Given the description of an element on the screen output the (x, y) to click on. 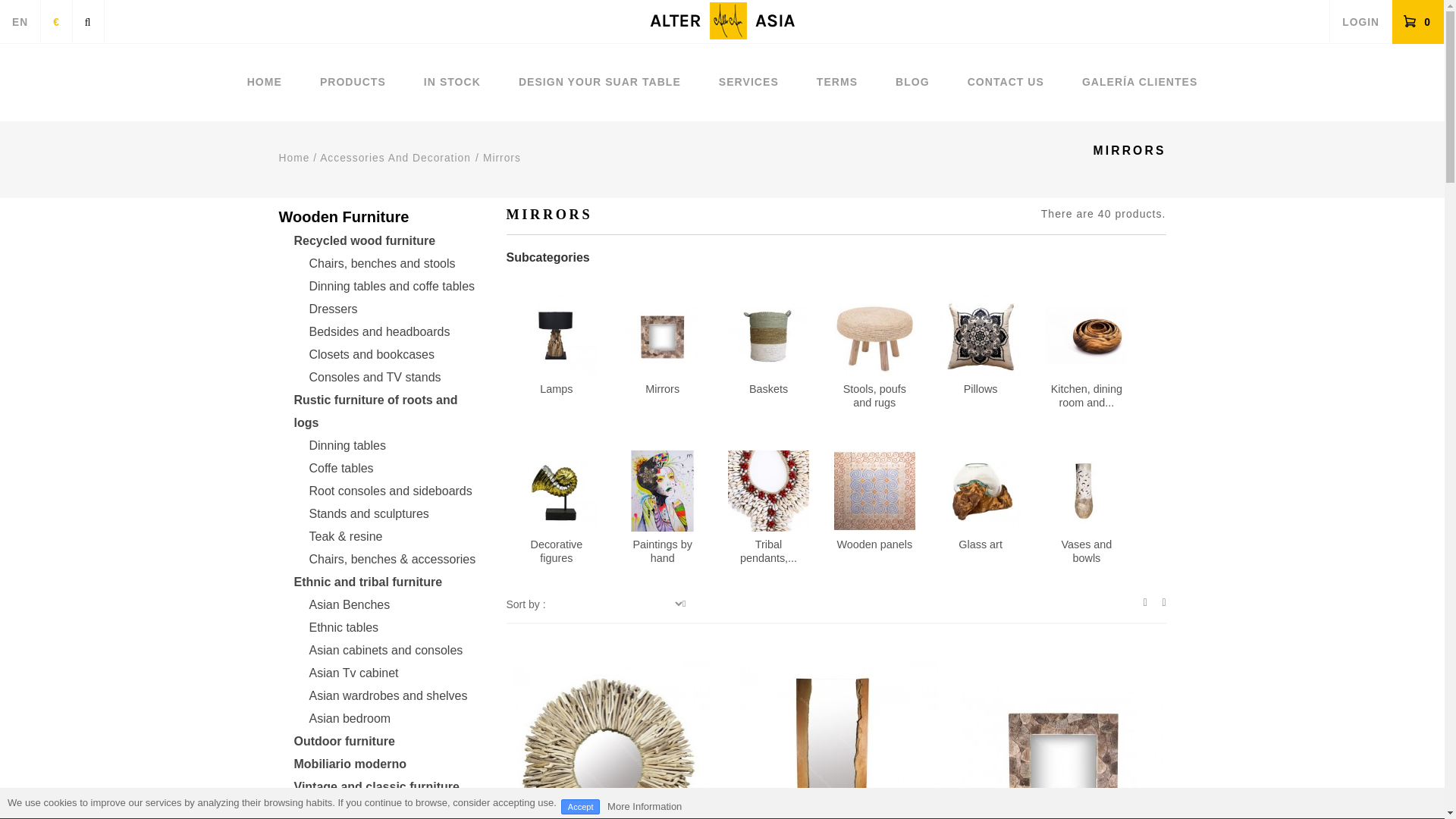
Return to Home (294, 157)
Login to your customer account (1360, 22)
PRODUCTS (352, 81)
0 (1417, 22)
LOGIN (1360, 22)
AlterAsia (721, 24)
Accessories And Decoration (395, 157)
HOME (264, 81)
EN (20, 22)
Search (87, 21)
